Given the description of an element on the screen output the (x, y) to click on. 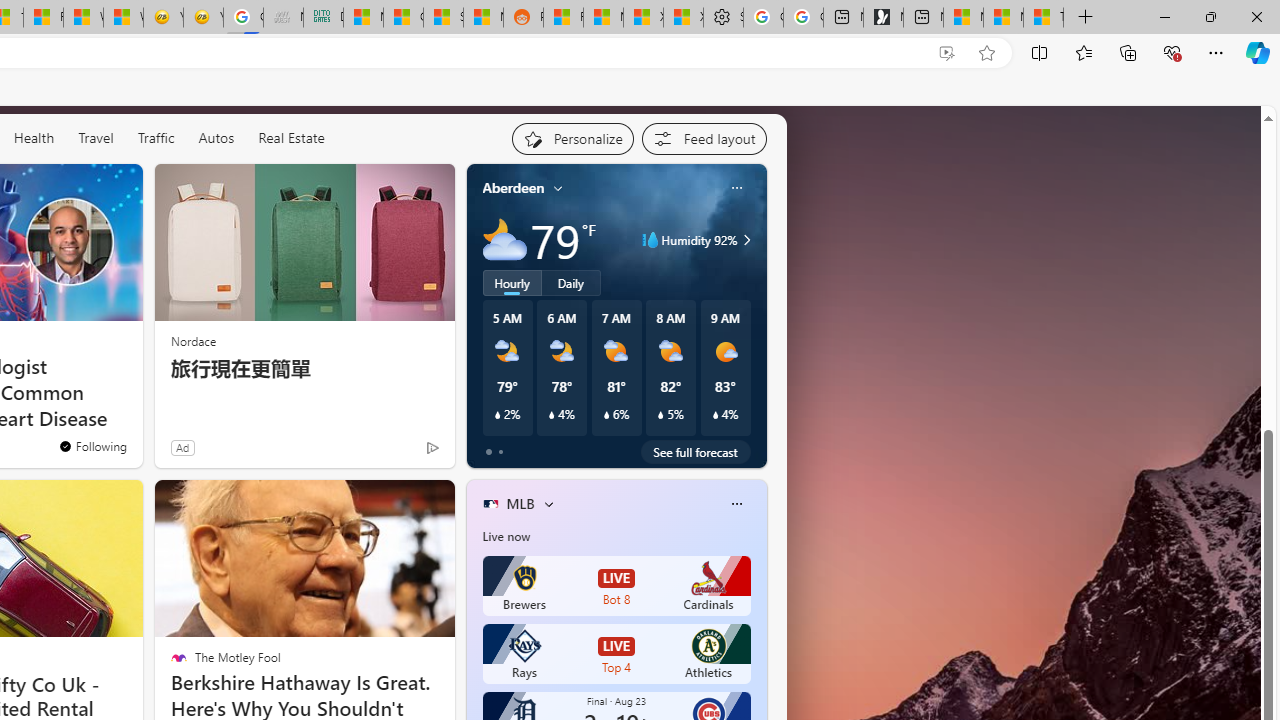
Rays LIVE Top 4 Athletics (616, 654)
Travel (95, 138)
MLB (520, 503)
Daily (571, 282)
Aberdeen (513, 188)
Health (34, 137)
